Given the description of an element on the screen output the (x, y) to click on. 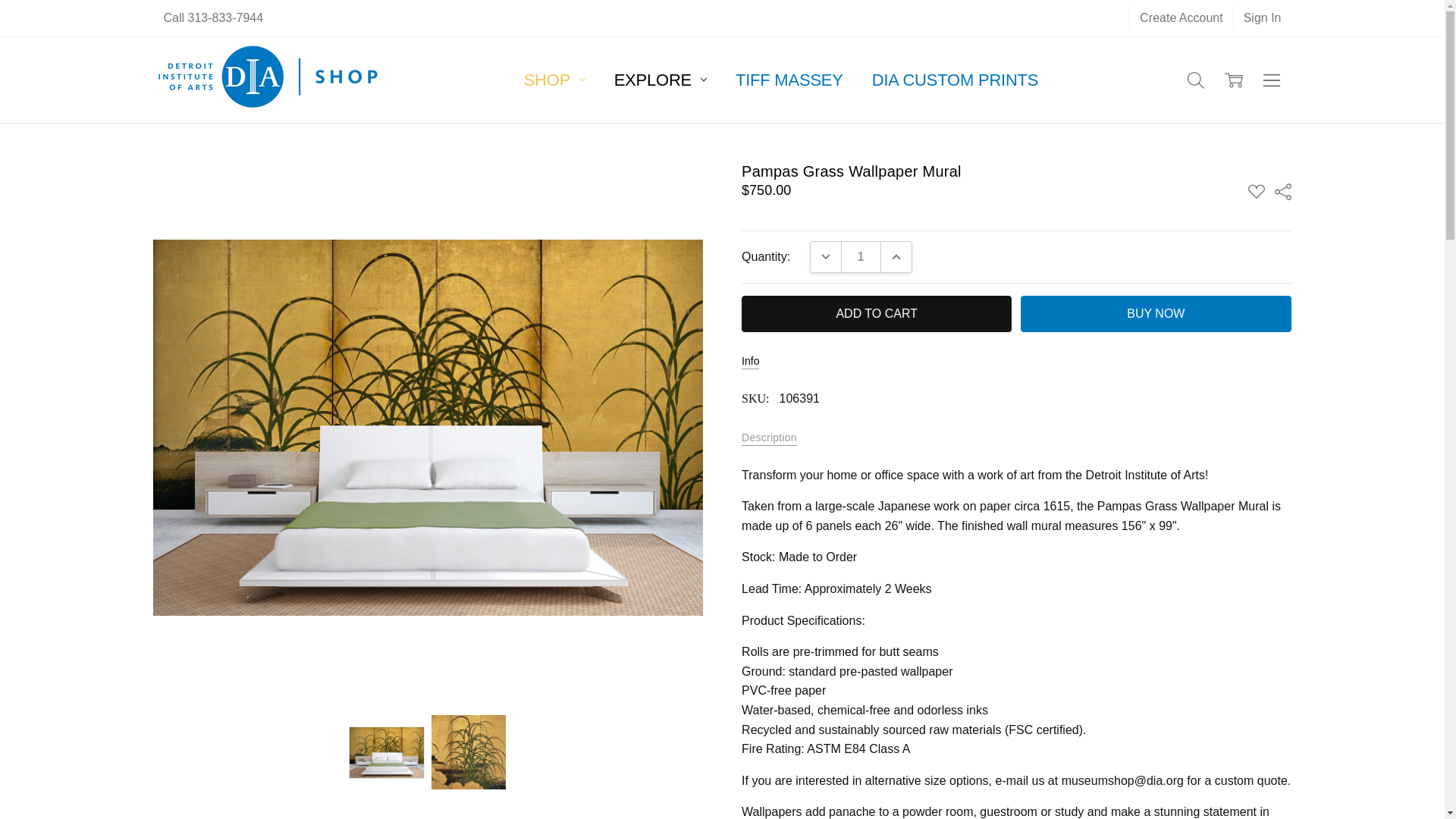
Sign In (1262, 17)
Call 313-833-7944 (212, 17)
Pampas Grass Wallpaper Mural (387, 752)
Create Account (1180, 17)
Buy Now (1155, 313)
SHOP (554, 79)
Add to Cart (876, 313)
Pampas Grass Wallpaper Mural (468, 752)
Detroit Institute of Arts Museum Shop (268, 79)
1 (860, 256)
